Given the description of an element on the screen output the (x, y) to click on. 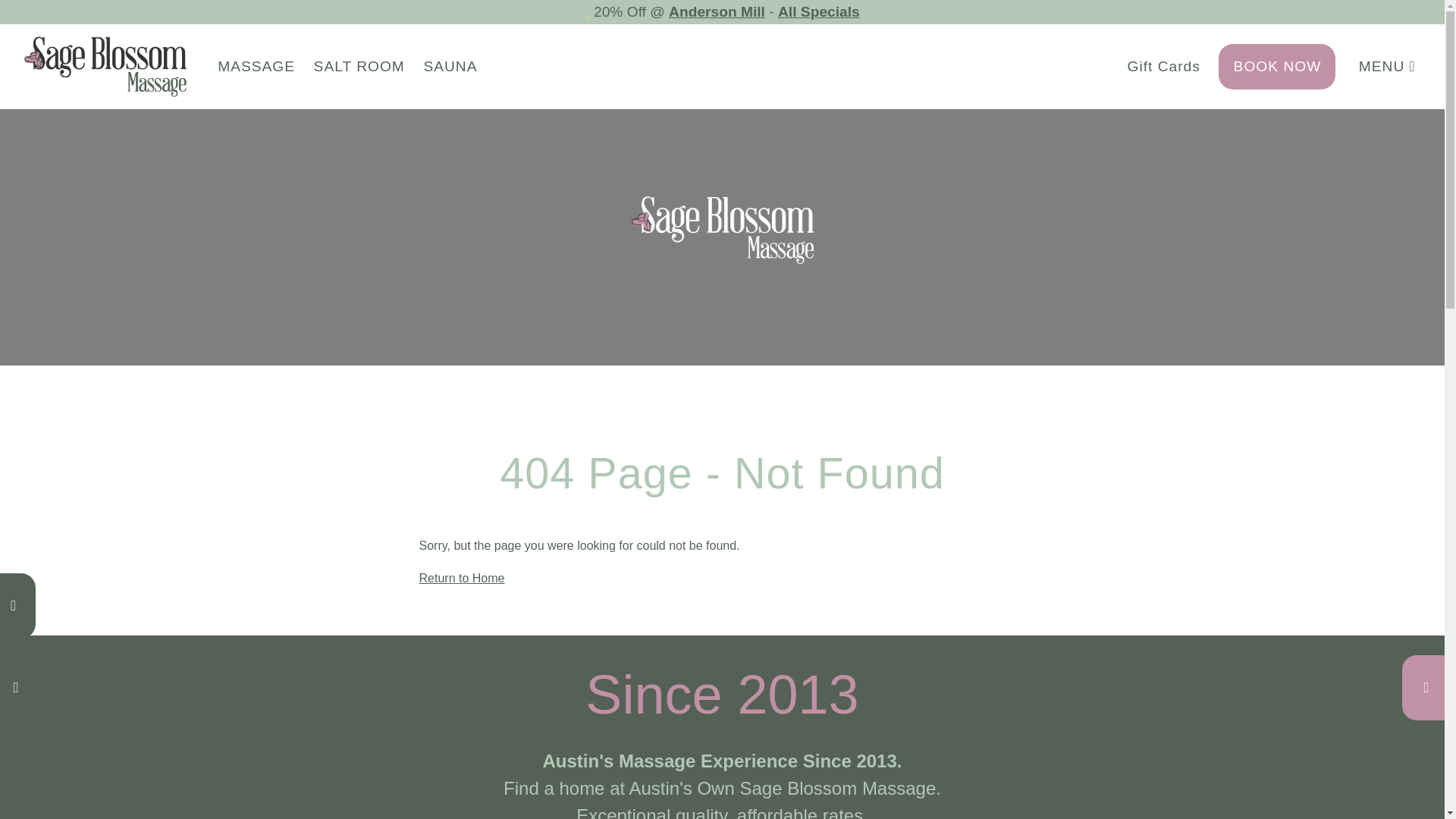
Gift Cards (1162, 66)
SAUNA (450, 66)
MASSAGE (255, 66)
All Specials (818, 11)
404 Page - Not Found (721, 472)
SALT ROOM (359, 66)
Anderson Mill (716, 11)
MENU (1387, 66)
BOOK NOW (1276, 66)
Return to Home (461, 577)
